Given the description of an element on the screen output the (x, y) to click on. 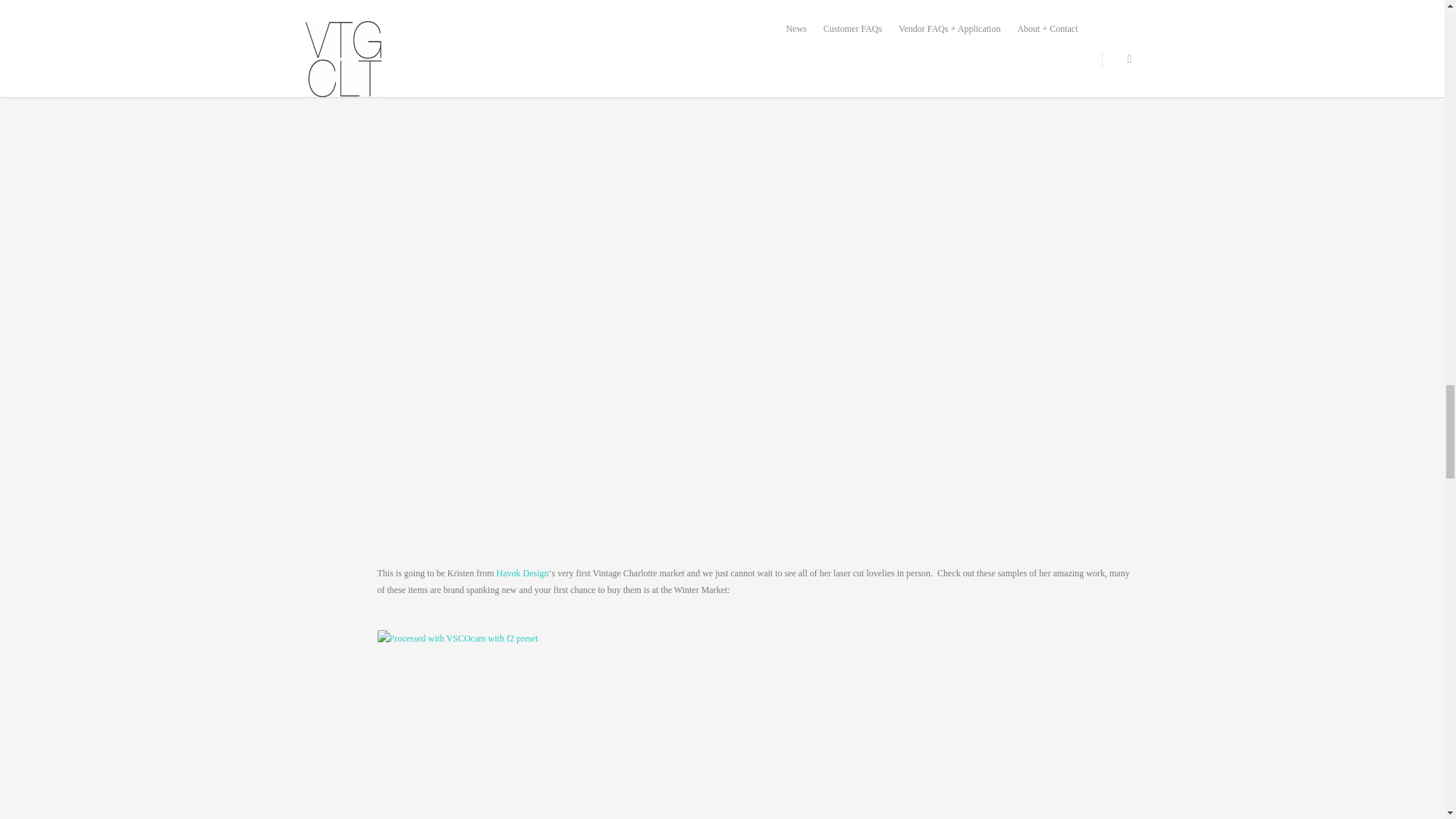
Havok Design (522, 573)
